Given the description of an element on the screen output the (x, y) to click on. 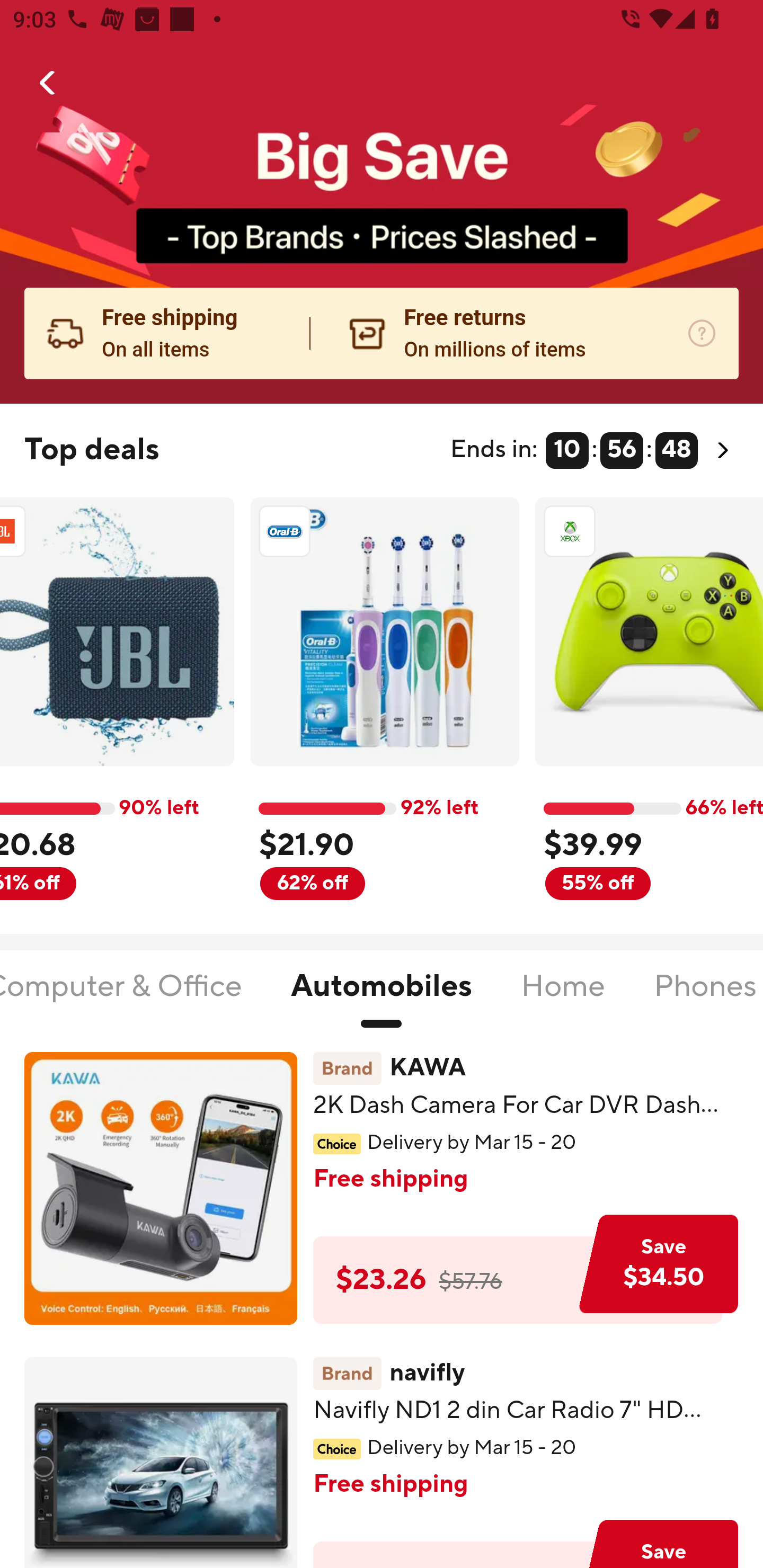
 (48, 82)
Computer & Office (121, 996)
Automobiles (381, 996)
Home (562, 996)
Phones & accessories (708, 996)
